Given the description of an element on the screen output the (x, y) to click on. 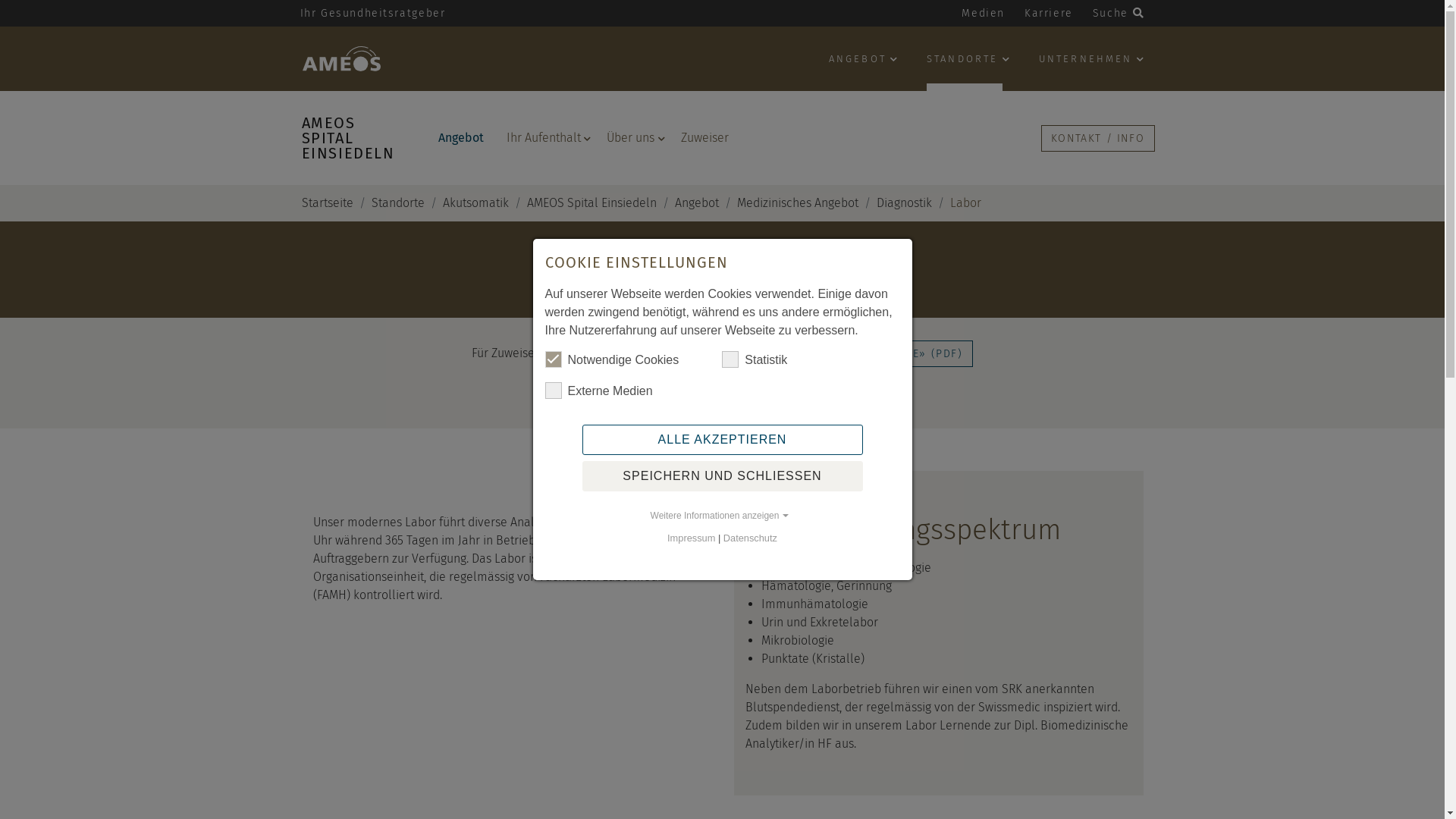
Angebot Element type: text (696, 202)
STANDORTE Element type: text (964, 63)
SPEICHERN UND SCHLIESSEN Element type: text (722, 476)
+41 55 418 52 21 Element type: text (693, 289)
Akutsomatik Element type: text (475, 202)
Ihr Aufenthalt Element type: text (544, 138)
Weitere Informationen anzeigen Element type: text (721, 515)
Medizinisches Angebot Element type: text (797, 202)
Datenschutz Element type: text (750, 537)
Angebot Element type: text (460, 138)
Standorte Element type: text (397, 202)
Karriere Element type: text (1048, 13)
Suche Element type: text (1118, 13)
Ihr Gesundheitsratgeber Element type: text (372, 13)
KONTAKT / INFO Element type: text (1097, 138)
AMEOS
SPITAL EINSIEDELN Element type: text (351, 138)
Startseite Element type: text (327, 202)
UNTERNEHMEN Element type: text (1087, 63)
E-Mail schreiben Element type: text (792, 289)
Zuweiser Element type: text (704, 138)
Medien Element type: text (982, 13)
ALLE AKZEPTIEREN Element type: text (722, 439)
ANGEBOT Element type: text (859, 63)
Diagnostik Element type: text (903, 202)
Impressum Element type: text (691, 537)
AMEOS Spital Einsiedeln Element type: text (590, 202)
